Given the description of an element on the screen output the (x, y) to click on. 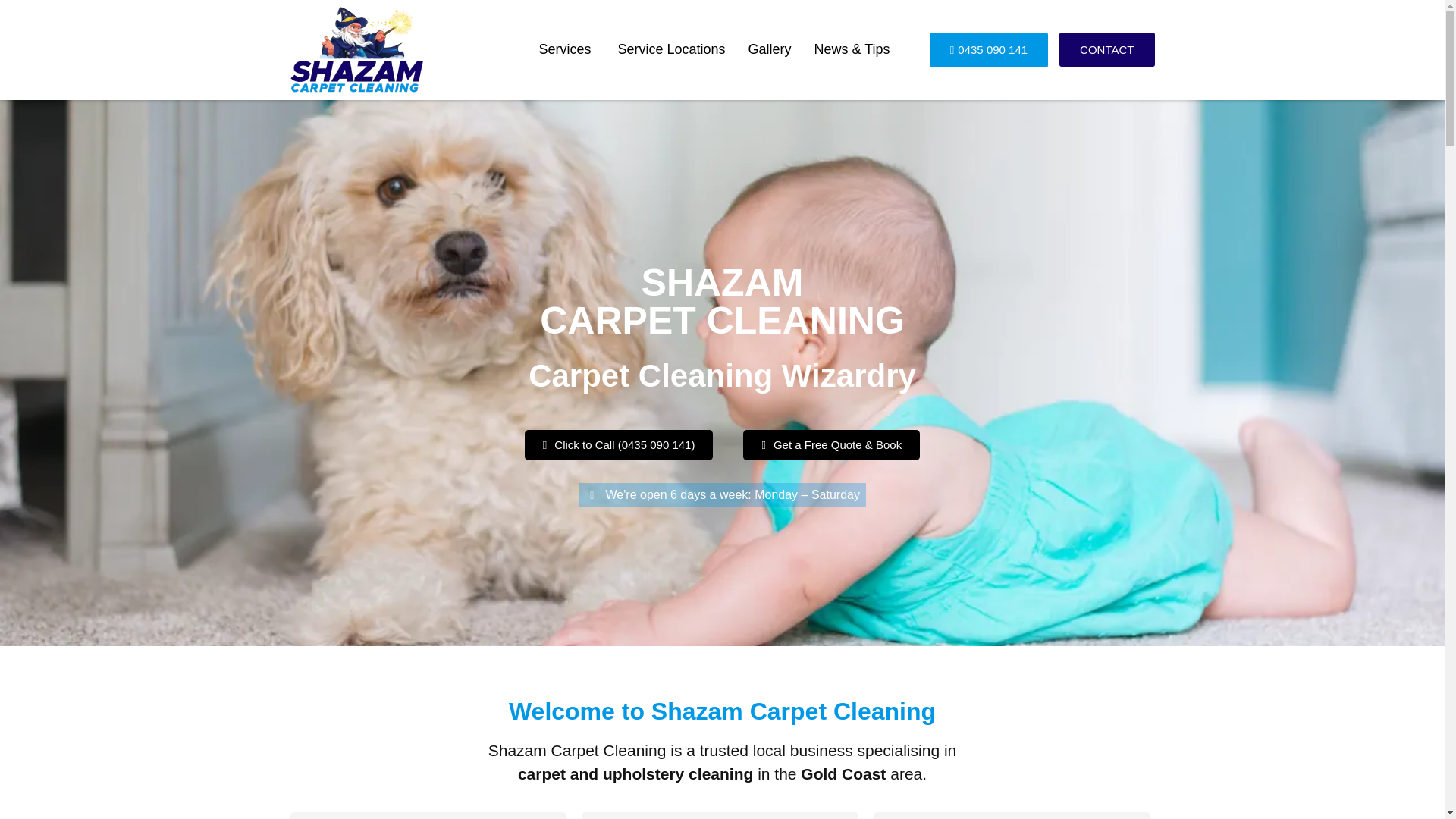
0435 090 141 (989, 49)
Service Locations (670, 49)
CONTACT (1106, 49)
Services (566, 49)
Gallery (769, 49)
